Given the description of an element on the screen output the (x, y) to click on. 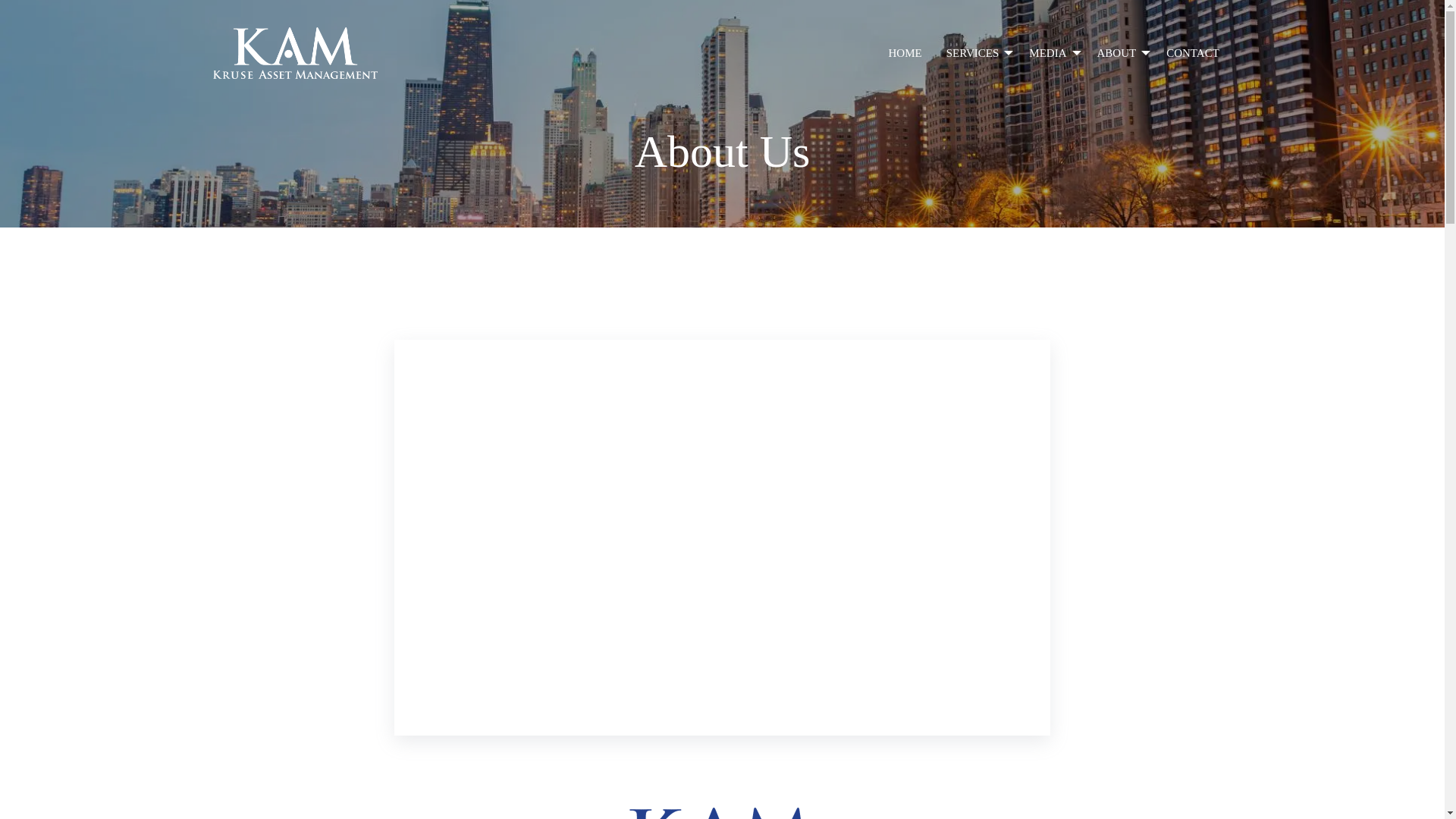
ABOUT (1119, 53)
CONTACT (1192, 53)
SERVICES (975, 53)
MEDIA (1050, 53)
HOME (905, 53)
